Given the description of an element on the screen output the (x, y) to click on. 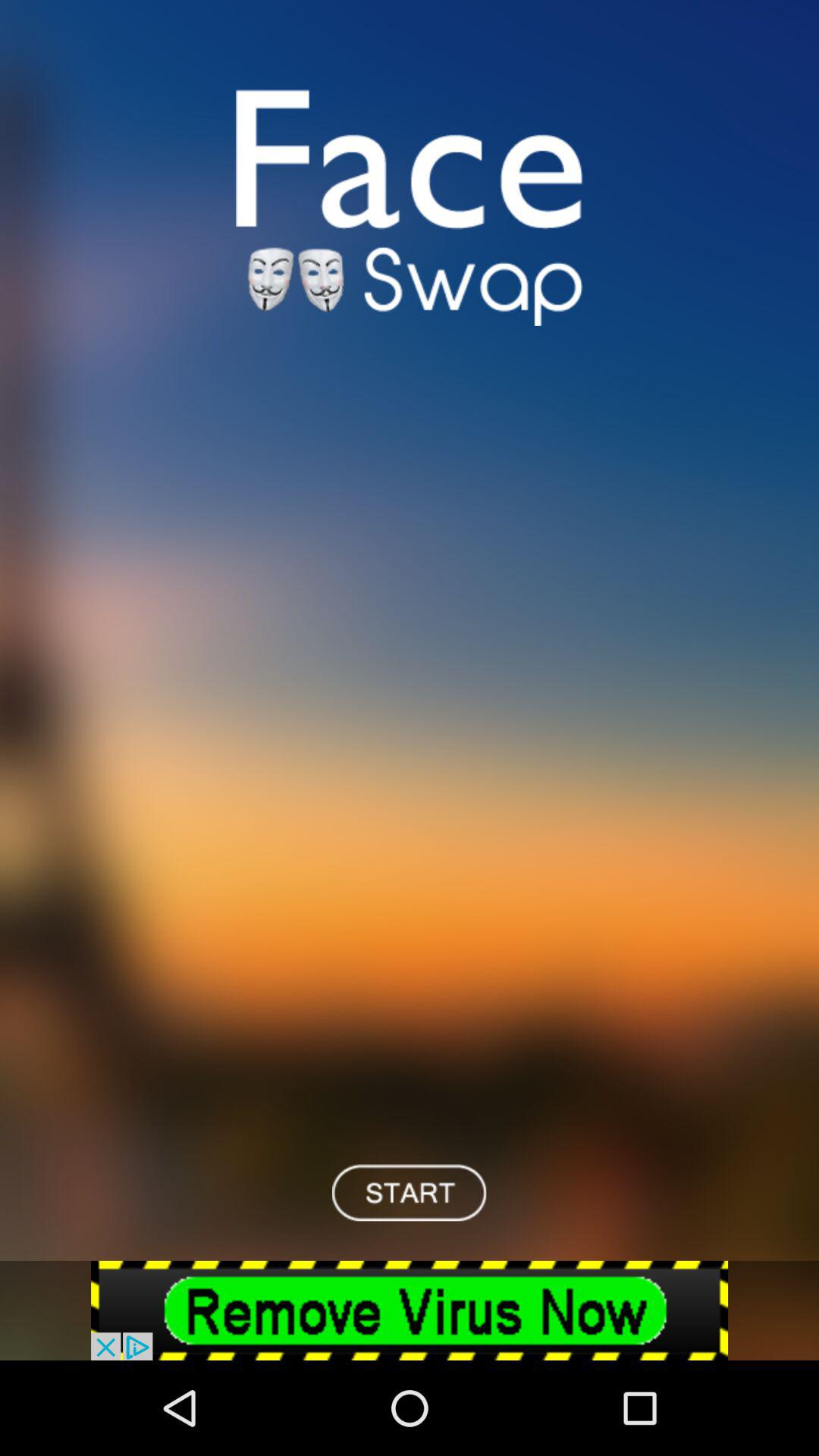
play (409, 1192)
